Given the description of an element on the screen output the (x, y) to click on. 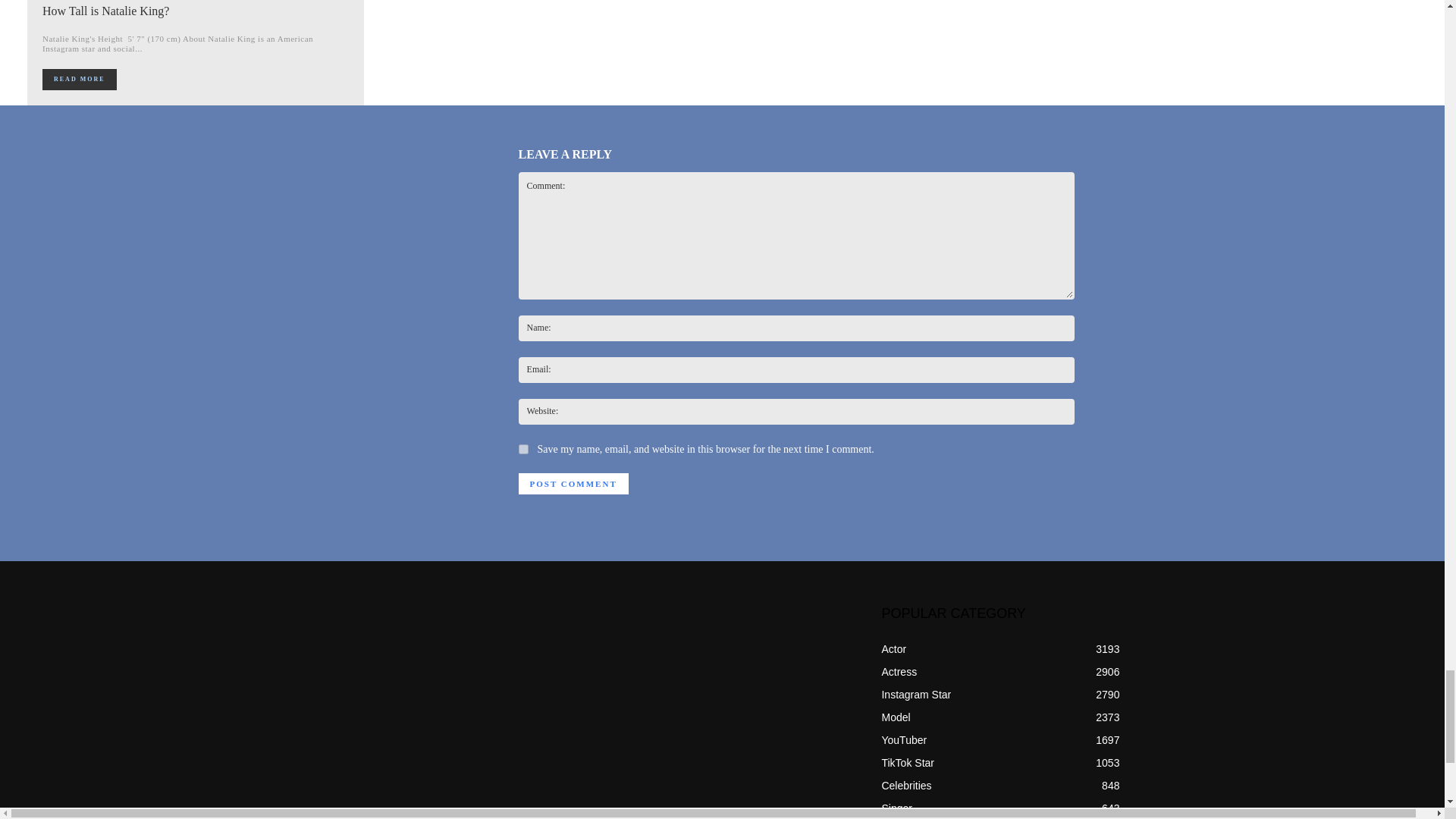
yes (523, 449)
Post Comment (573, 483)
